Given the description of an element on the screen output the (x, y) to click on. 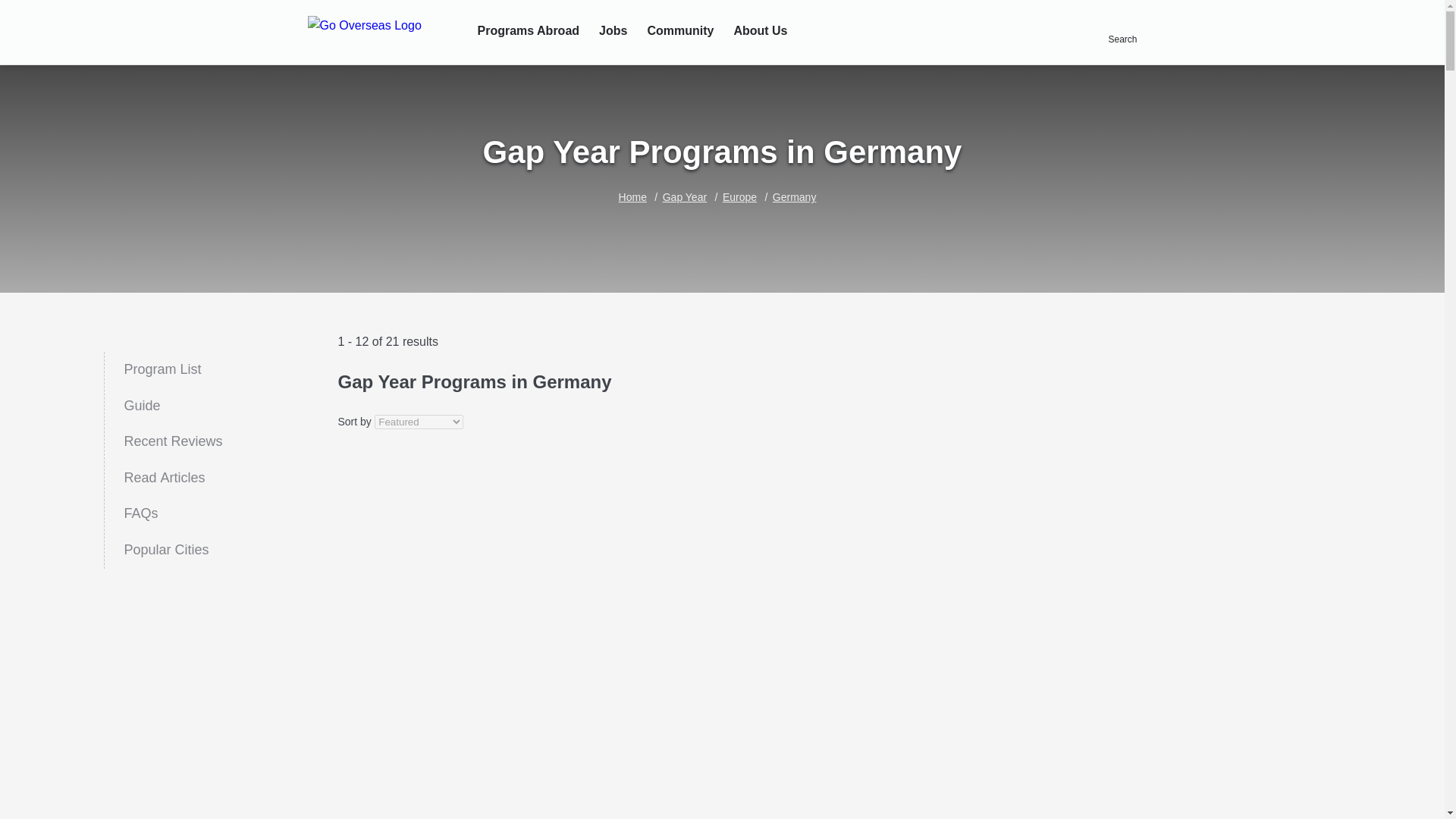
Guide (172, 406)
Go Overseas Home (382, 32)
Home (632, 196)
Popular Cities (172, 370)
FAQs (172, 550)
Germany (172, 514)
Europe (794, 196)
Gap Year (739, 196)
